Given the description of an element on the screen output the (x, y) to click on. 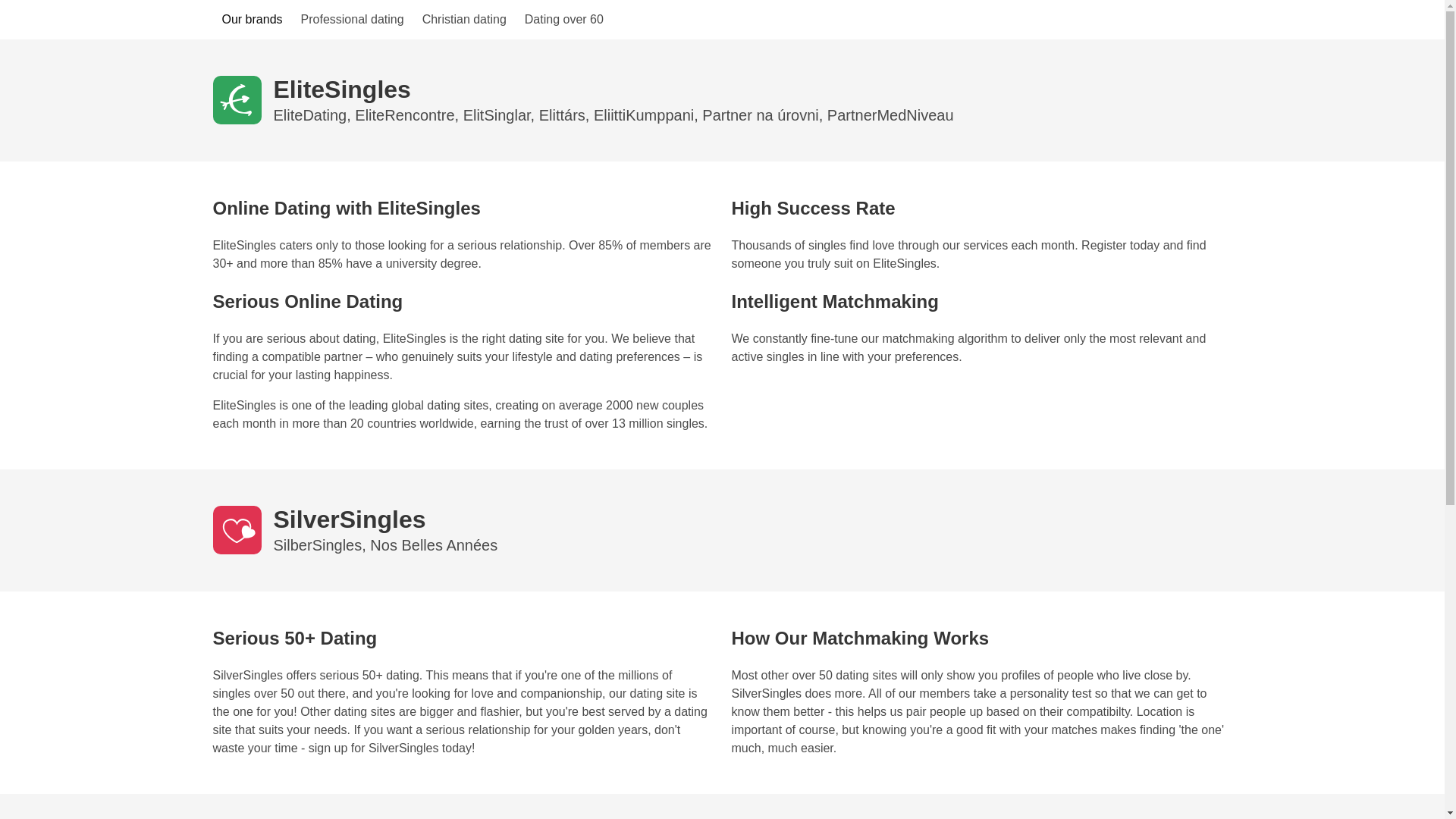
Professional dating (352, 19)
Christian dating (464, 19)
Our brands (251, 19)
Dating over 60 (563, 19)
